Given the description of an element on the screen output the (x, y) to click on. 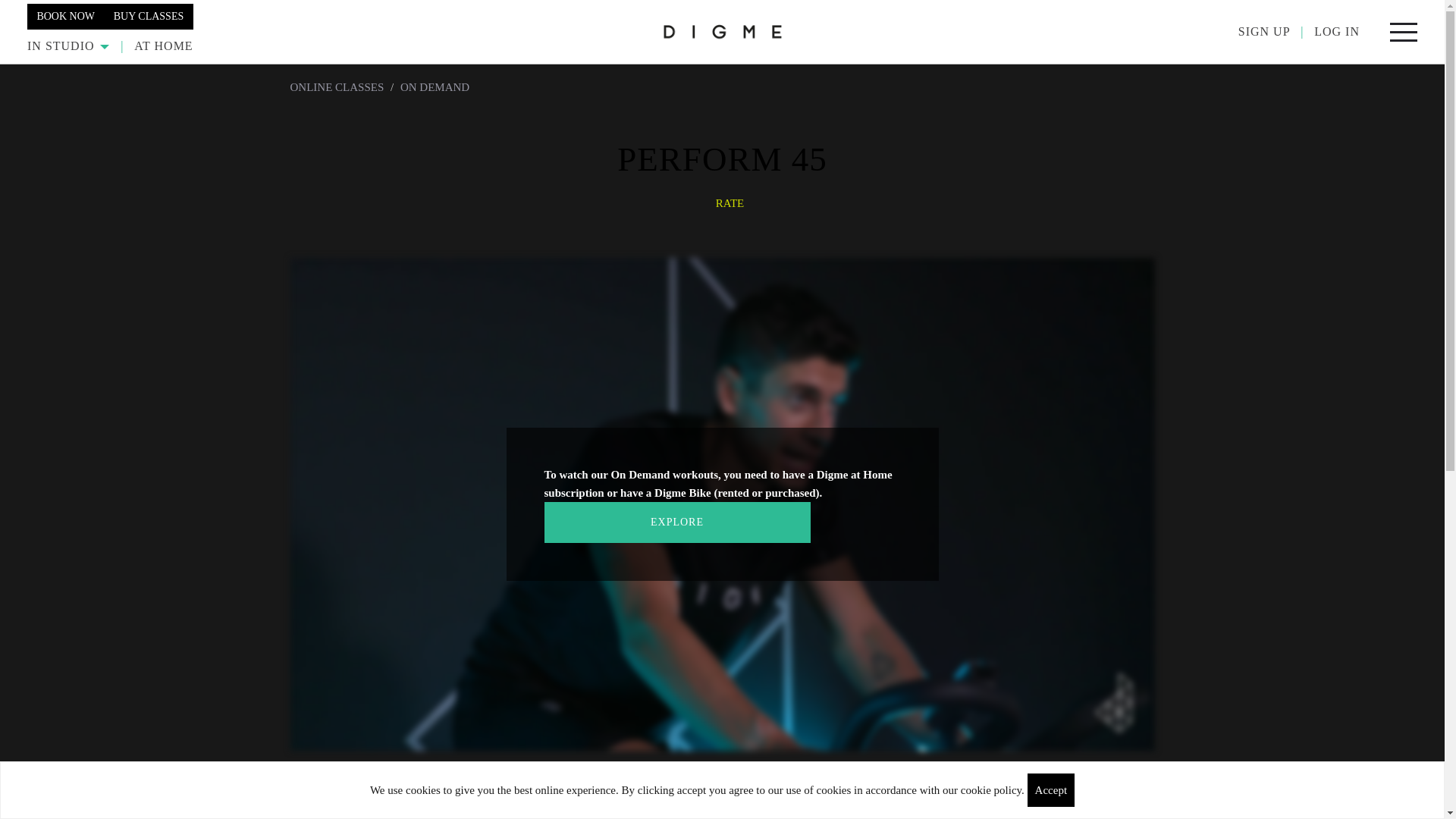
Accept (1050, 789)
AT HOME (162, 45)
ONLINE CLASSES (336, 87)
LOG IN (1336, 31)
BUY CLASSES (148, 15)
BOOK NOW (65, 15)
ON DEMAND (434, 87)
IN STUDIO (68, 45)
SIGN UP (1264, 31)
EXPLORE (677, 522)
Digme (722, 31)
RATE (730, 203)
Sion (324, 812)
